Given the description of an element on the screen output the (x, y) to click on. 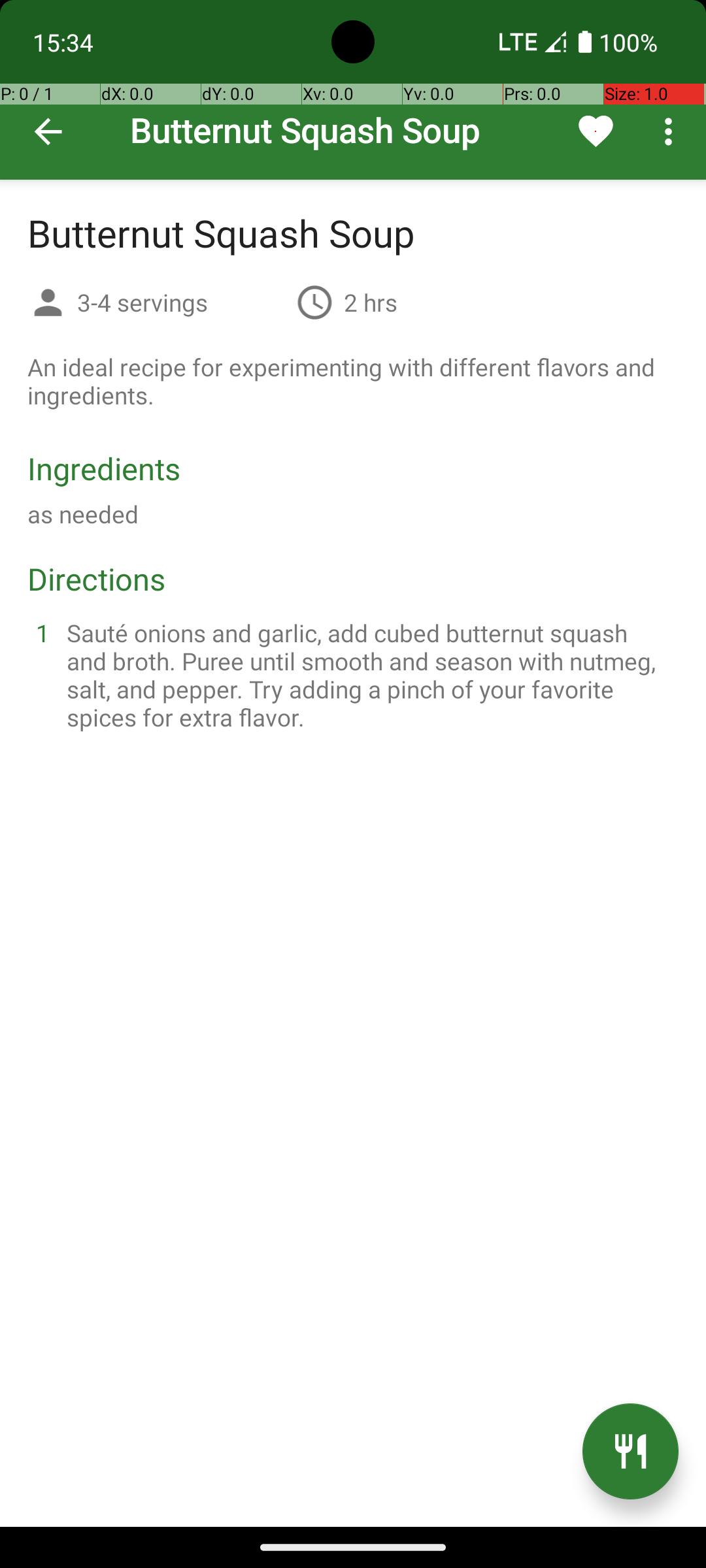
Sauté onions and garlic, add cubed butternut squash and broth. Puree until smooth and season with nutmeg, salt, and pepper. Try adding a pinch of your favorite spices for extra flavor. Element type: android.widget.TextView (368, 674)
